Given the description of an element on the screen output the (x, y) to click on. 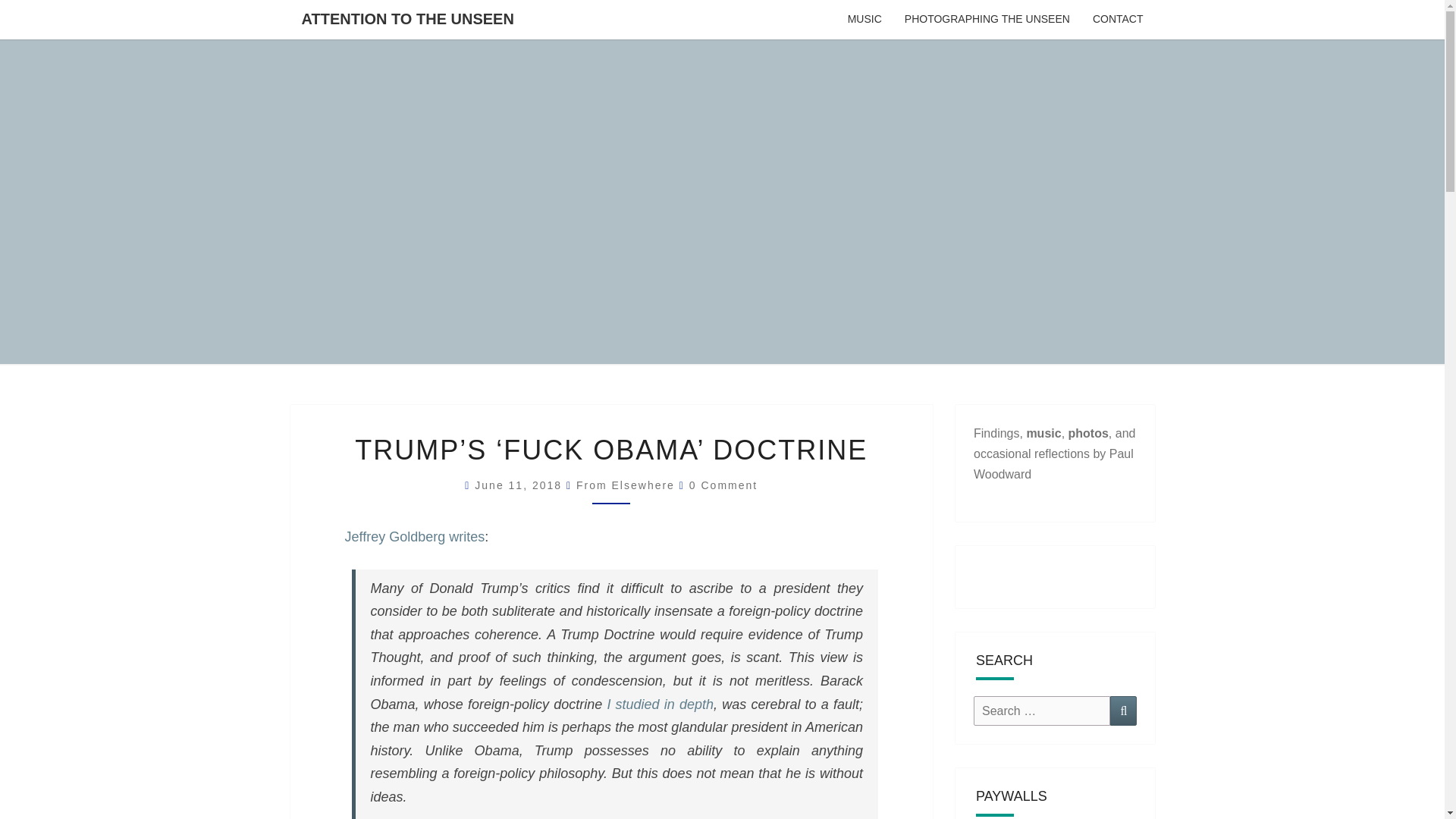
View all posts by From elsewhere (625, 485)
PHOTOGRAPHING THE UNSEEN (987, 19)
0 Comment (722, 485)
photos (1088, 432)
9:17 pm (520, 485)
music (1043, 432)
I studied in depth (660, 703)
Jeffrey Goldberg writes (413, 536)
June 11, 2018 (520, 485)
ATTENTION TO THE UNSEEN (406, 18)
